Given the description of an element on the screen output the (x, y) to click on. 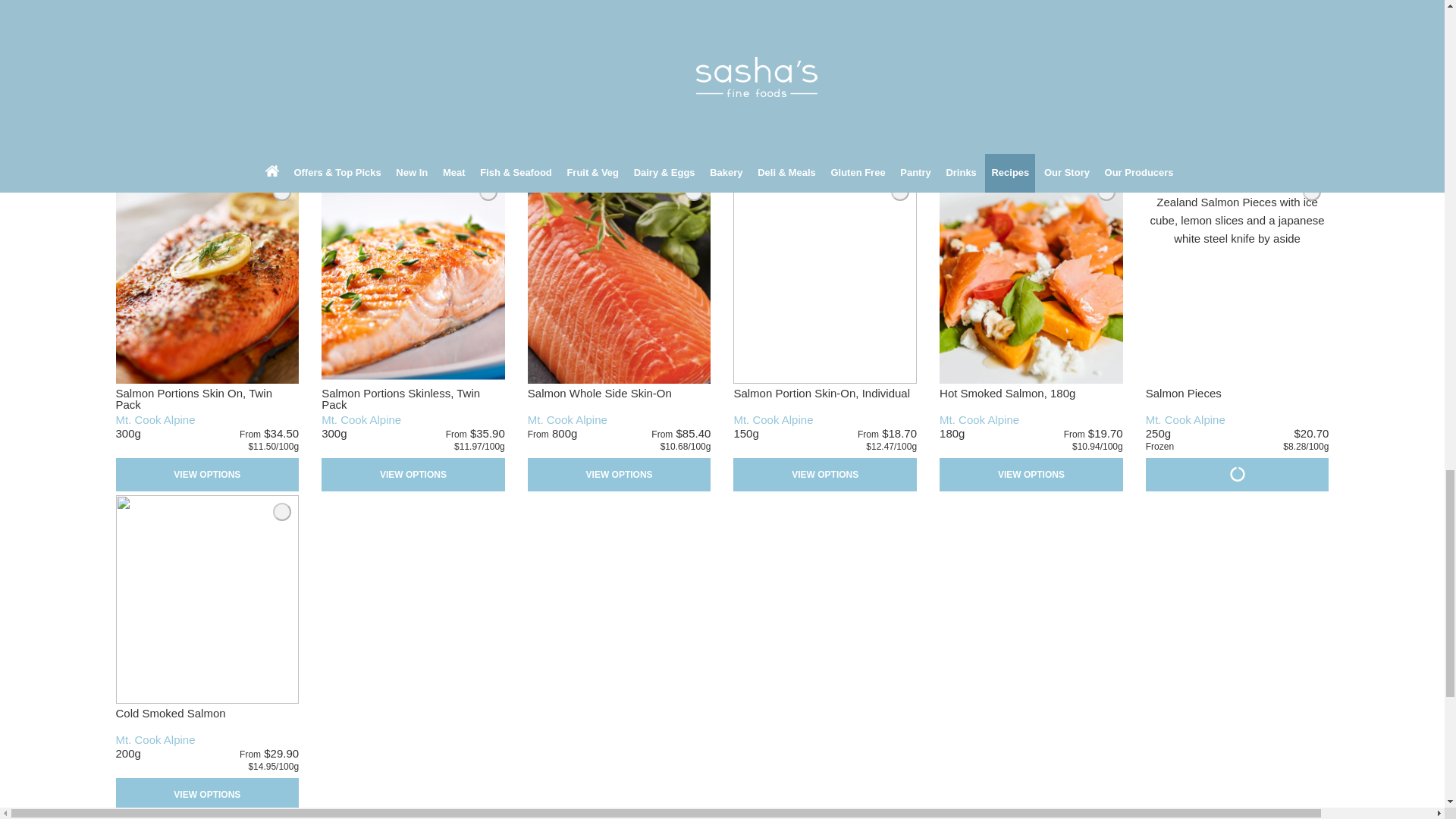
Mt. Cook Alpine (567, 419)
Mt. Cook Alpine (1185, 419)
Mt. Cook Alpine (155, 419)
Mt. Cook Alpine (979, 419)
Mt. Cook Alpine (361, 419)
Mt. Cook Alpine (772, 419)
